Given the description of an element on the screen output the (x, y) to click on. 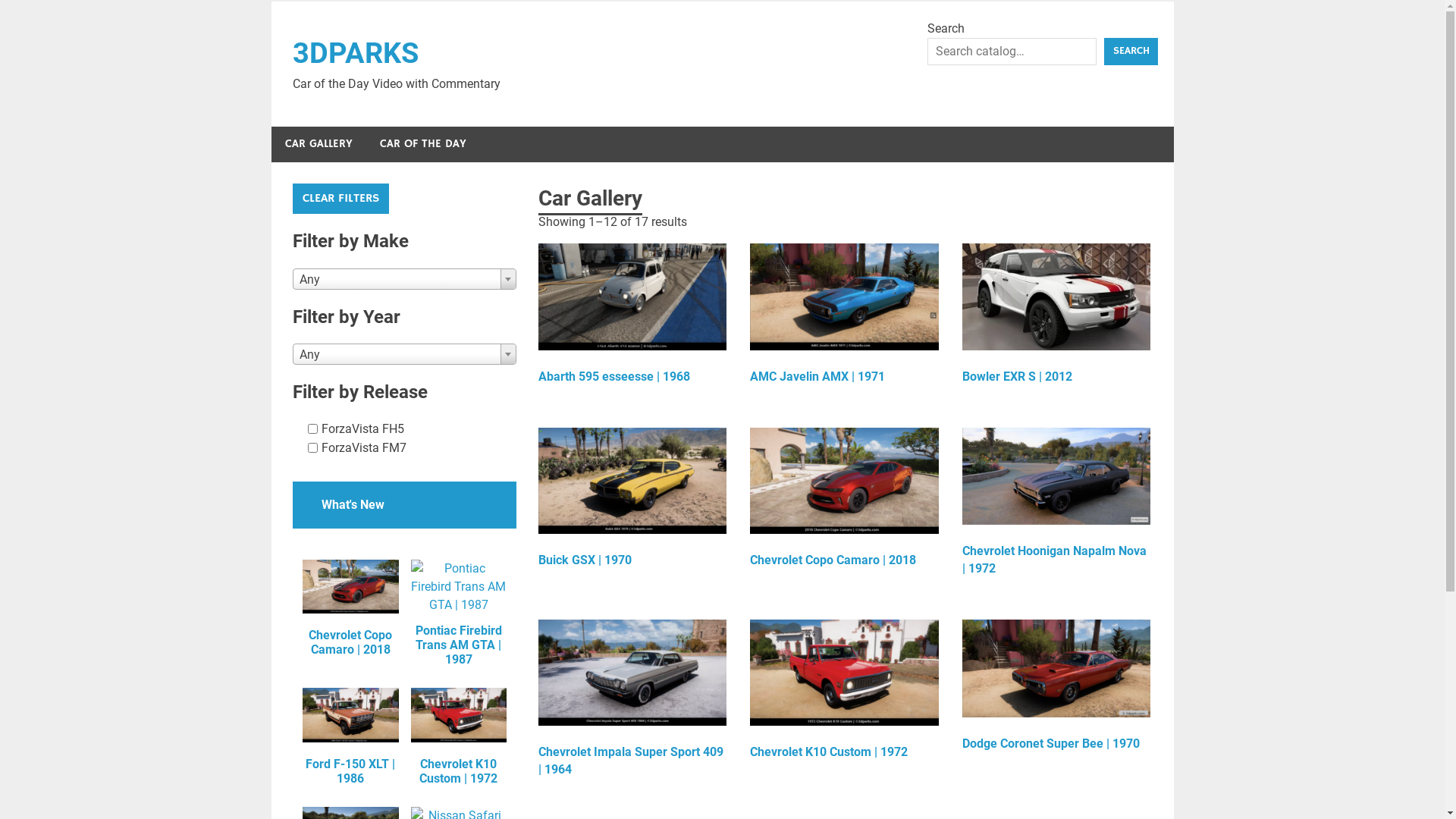
Chevrolet K10 Custom | 1972 Element type: text (843, 693)
Abarth 595 esseesse | 1968 Element type: text (632, 317)
Chevrolet K10 Custom | 1972 Element type: text (458, 736)
Bowler EXR S | 2012 Element type: text (1056, 317)
Buick GSX | 1970 Element type: text (632, 501)
SEARCH Element type: text (1130, 51)
CLEAR FILTERS Element type: text (340, 198)
Chevrolet Impala Super Sport 409 | 1964 Element type: text (632, 701)
3DPARKS Element type: text (355, 52)
Chevrolet Copo Camaro | 2018 Element type: text (350, 608)
Chevrolet Copo Camaro | 2018 Element type: text (843, 501)
CAR OF THE DAY Element type: text (422, 144)
CAR GALLERY Element type: text (318, 144)
Dodge Coronet Super Bee | 1970 Element type: text (1056, 689)
Pontiac Firebird Trans AM GTA | 1987 Element type: text (458, 613)
Chevrolet Hoonigan Napalm Nova | 1972 Element type: text (1056, 505)
Ford F-150 XLT | 1986 Element type: text (350, 736)
AMC Javelin AMX | 1971 Element type: text (843, 317)
